Given the description of an element on the screen output the (x, y) to click on. 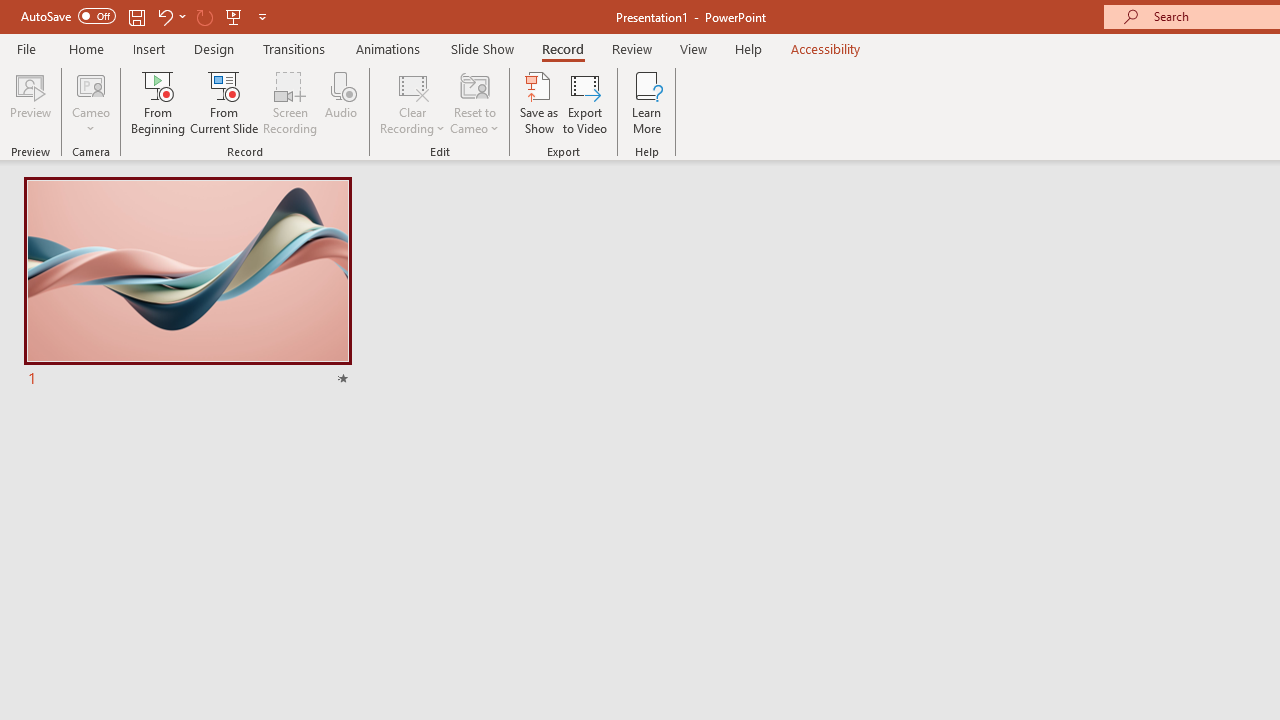
Screen Recording (290, 102)
From Current Slide... (224, 102)
Audio (341, 102)
